Given the description of an element on the screen output the (x, y) to click on. 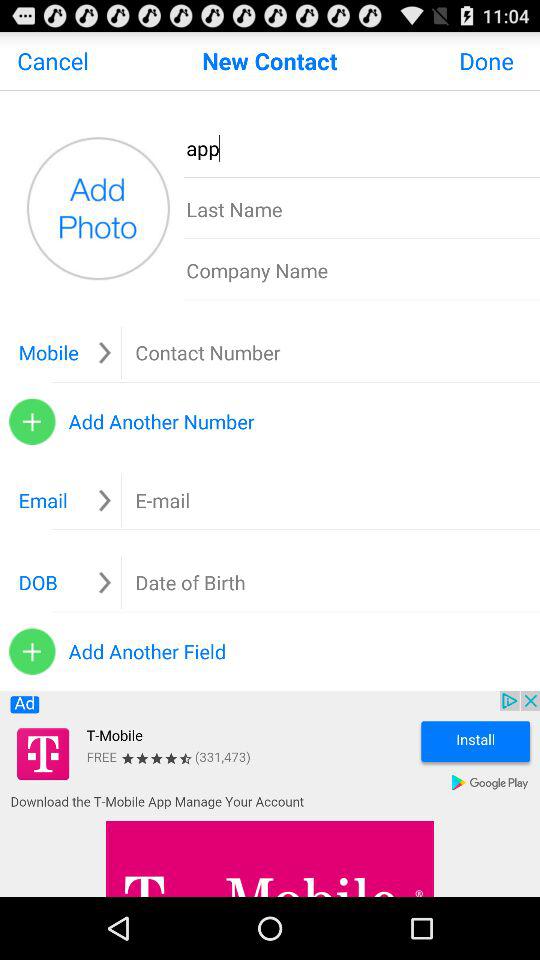
toggle to advertisement box (270, 794)
